Given the description of an element on the screen output the (x, y) to click on. 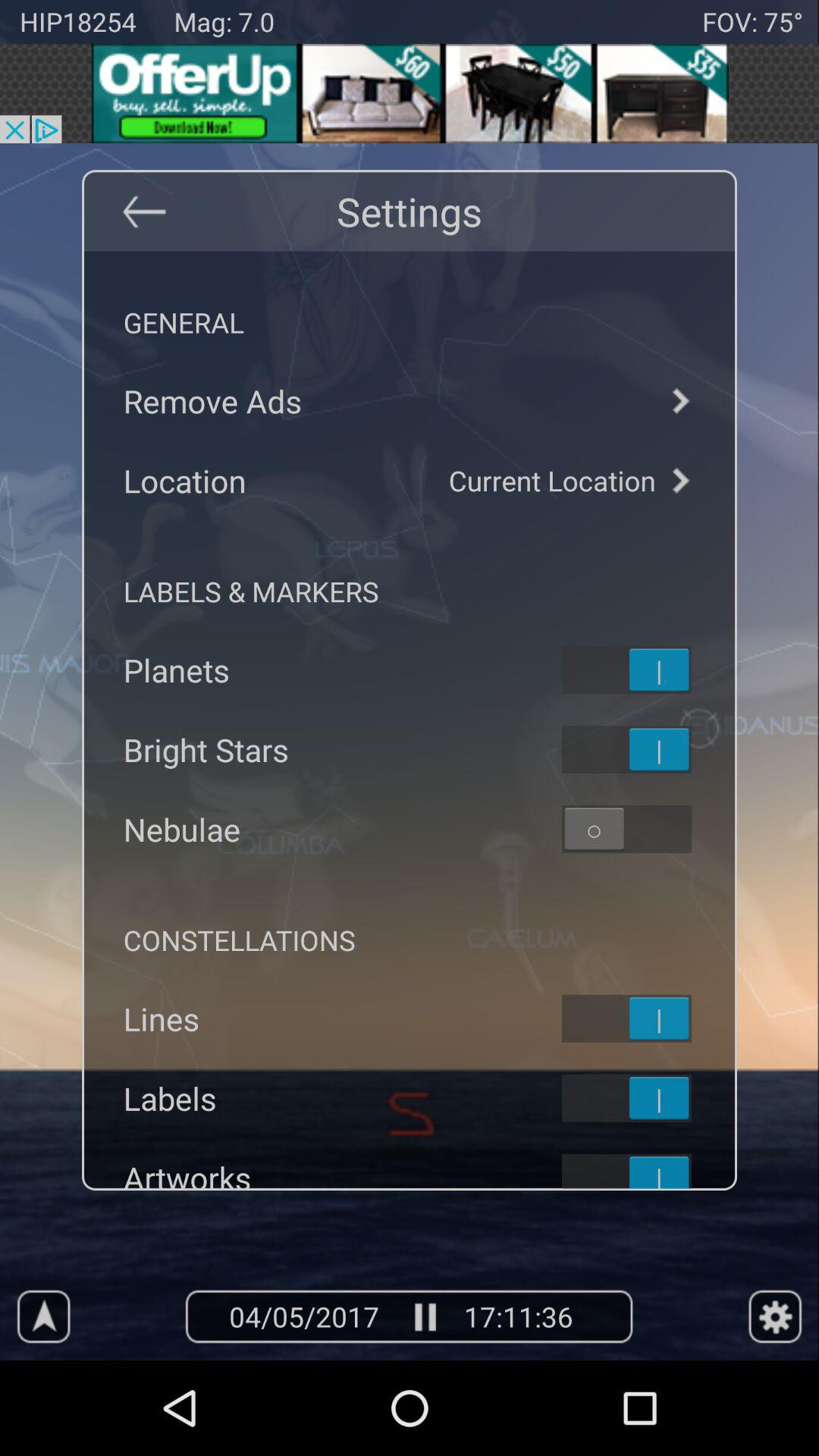
foreword option (679, 400)
